Given the description of an element on the screen output the (x, y) to click on. 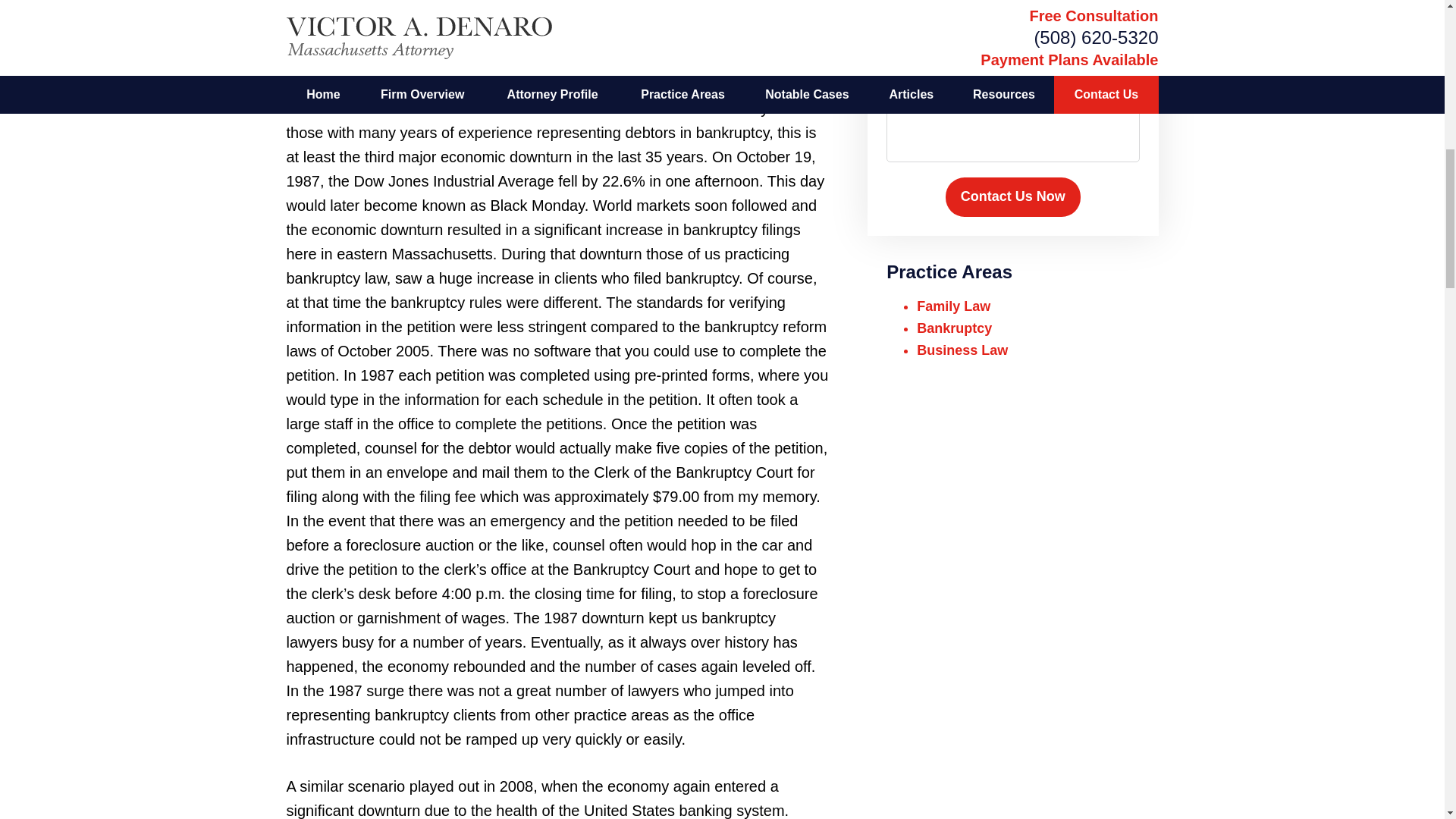
Contact Us Now (1012, 197)
Business Law (962, 350)
Bankruptcy (954, 328)
Family Law (953, 305)
